Given the description of an element on the screen output the (x, y) to click on. 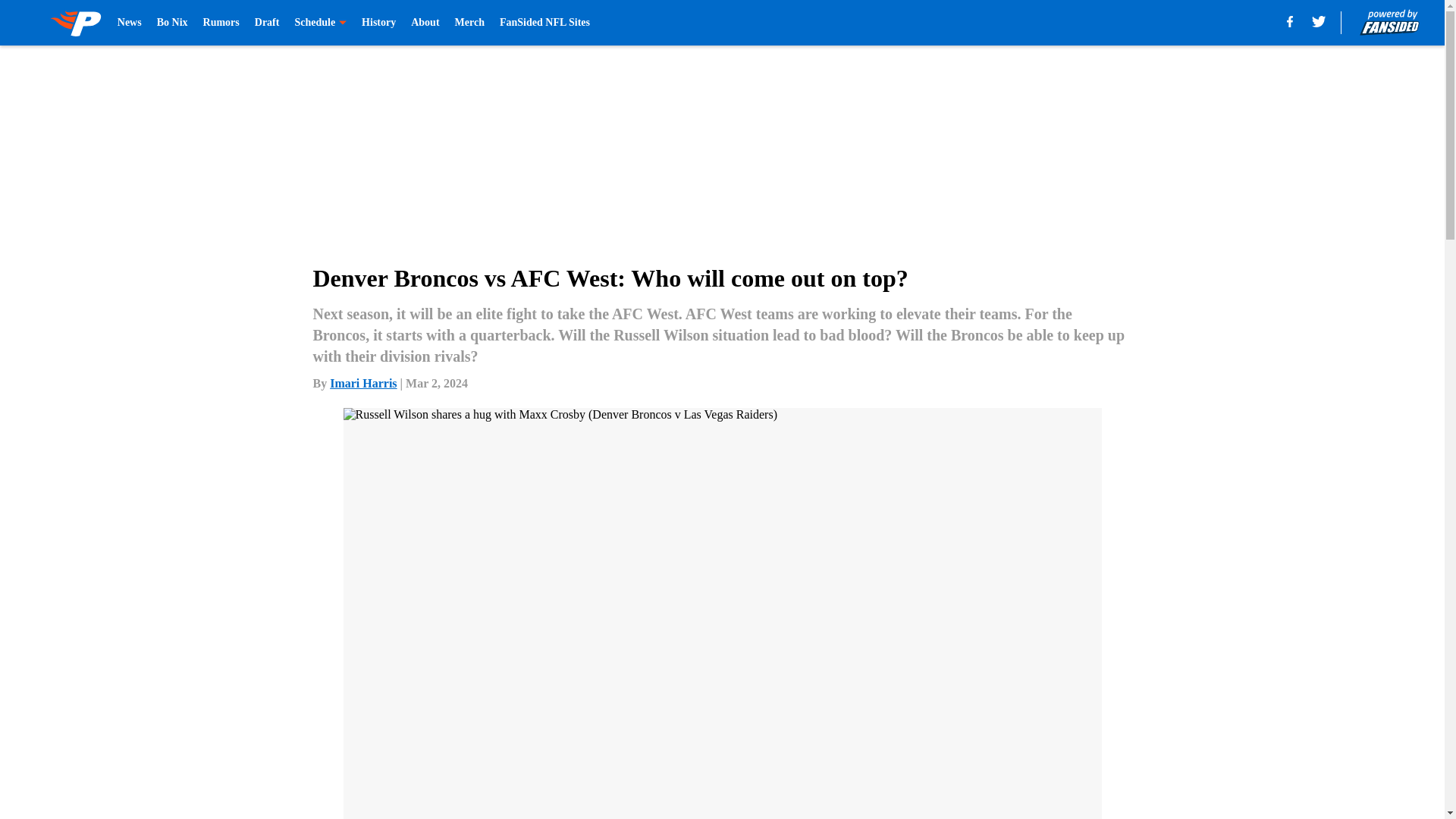
Imari Harris (363, 382)
Rumors (221, 22)
FanSided NFL Sites (544, 22)
About (424, 22)
Merch (469, 22)
News (129, 22)
Draft (266, 22)
Bo Nix (172, 22)
History (378, 22)
